Given the description of an element on the screen output the (x, y) to click on. 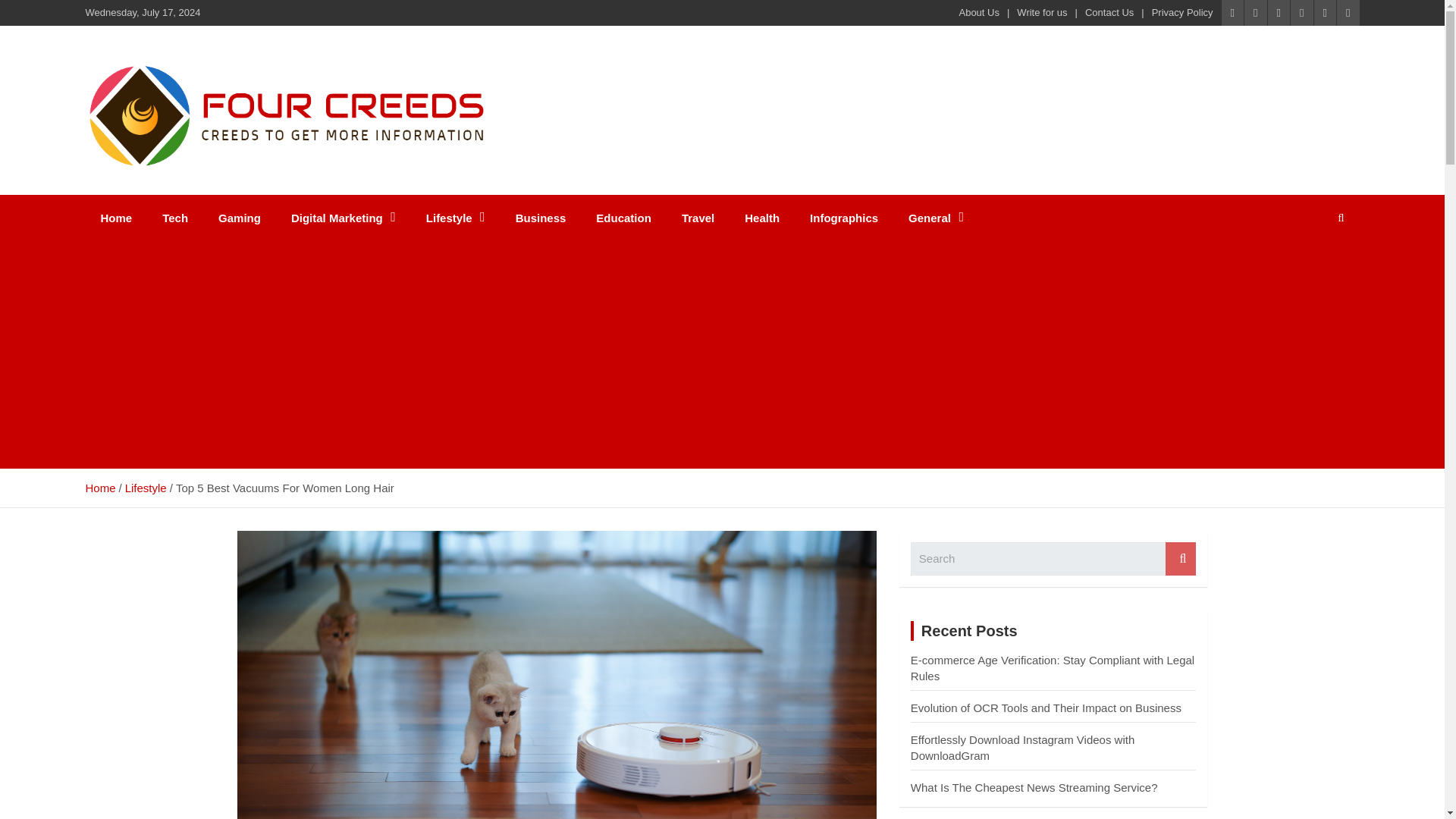
Digital Marketing (343, 217)
Write for us (1041, 12)
Lifestyle (146, 487)
Health (761, 217)
FourCreeds.com (205, 191)
Travel (697, 217)
Business (540, 217)
About Us (978, 12)
General (935, 217)
Privacy Policy (1181, 12)
Home (115, 217)
Lifestyle (455, 217)
Tech (175, 217)
Education (623, 217)
